Given the description of an element on the screen output the (x, y) to click on. 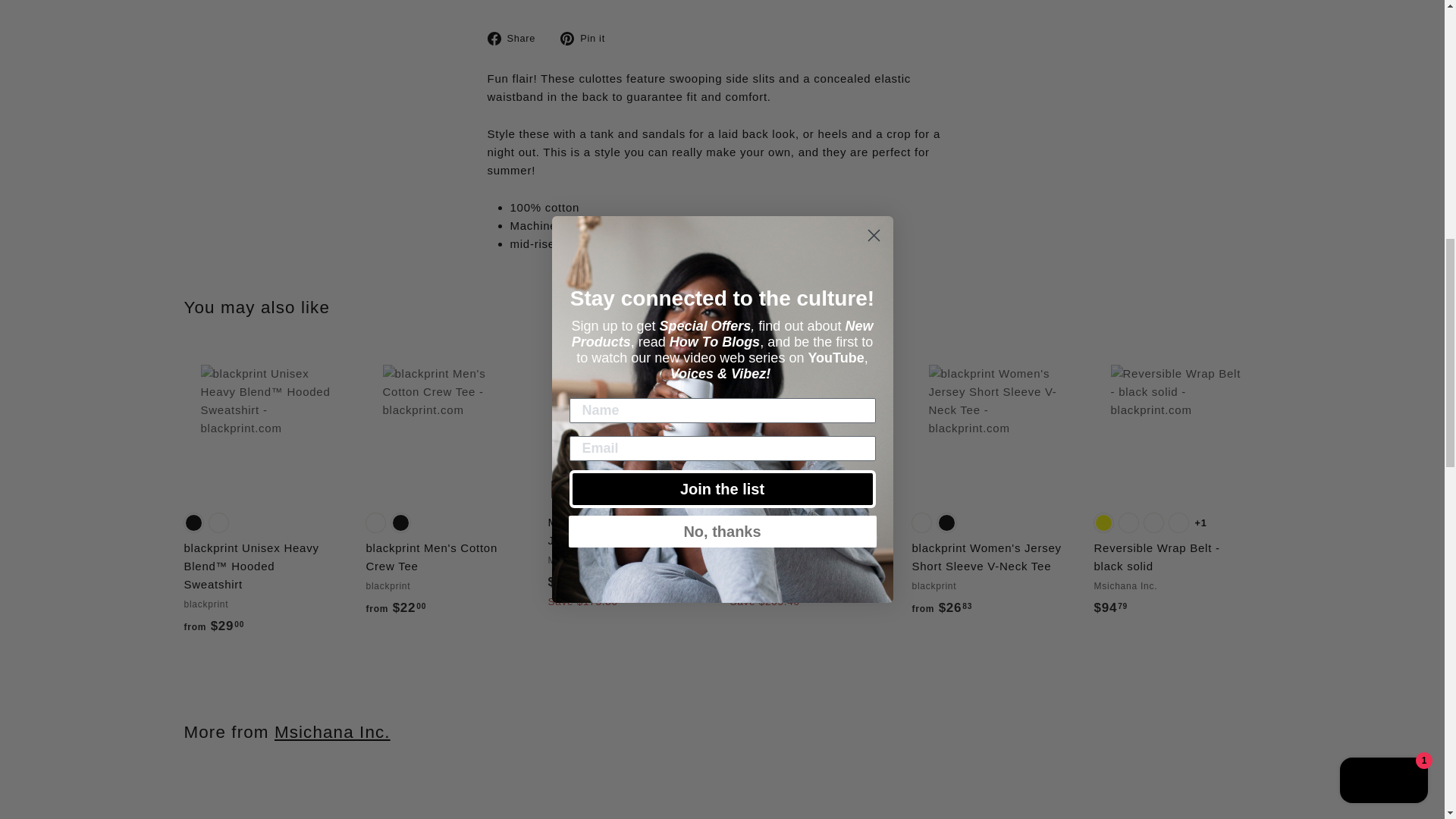
Pin on Pinterest (587, 37)
Share on Facebook (516, 37)
Msichana Inc. (332, 732)
